Given the description of an element on the screen output the (x, y) to click on. 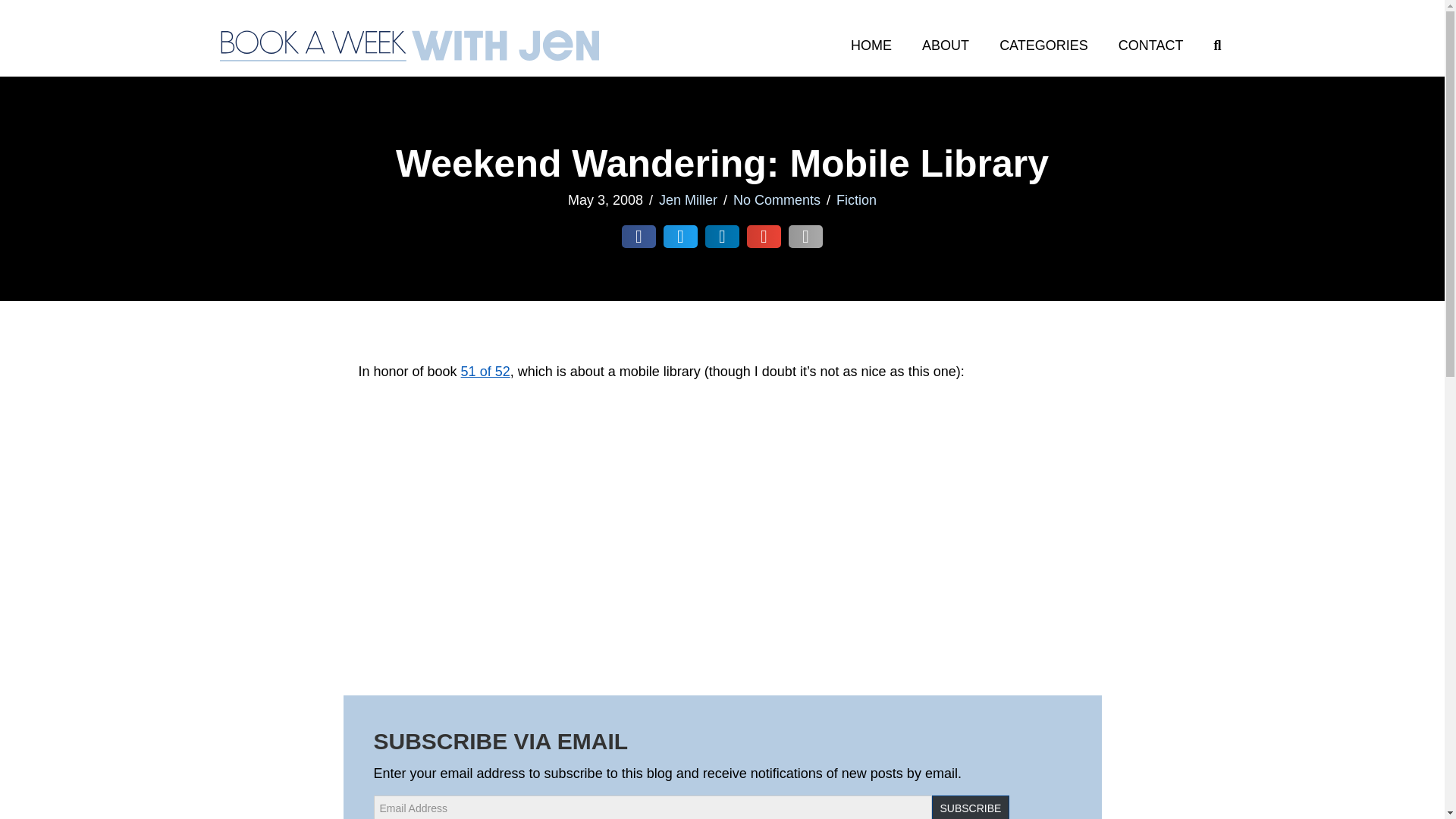
SUBSCRIBE (970, 807)
ABOUT (945, 45)
Jen Miller (688, 200)
51 of 52 (486, 371)
Fiction (855, 200)
CATEGORIES (1043, 45)
No Comments (777, 200)
CONTACT (1150, 45)
logo3 (408, 45)
HOME (871, 45)
